Given the description of an element on the screen output the (x, y) to click on. 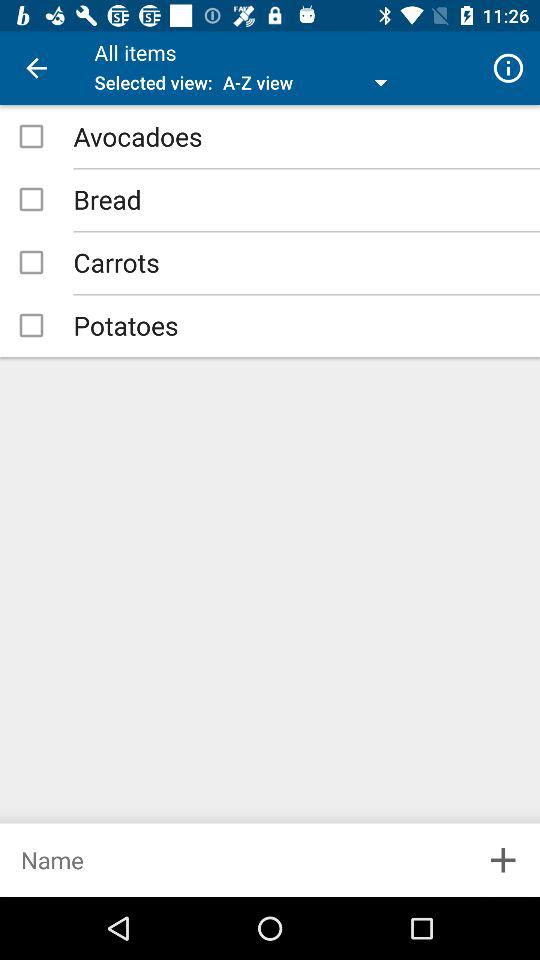
name (233, 860)
